Given the description of an element on the screen output the (x, y) to click on. 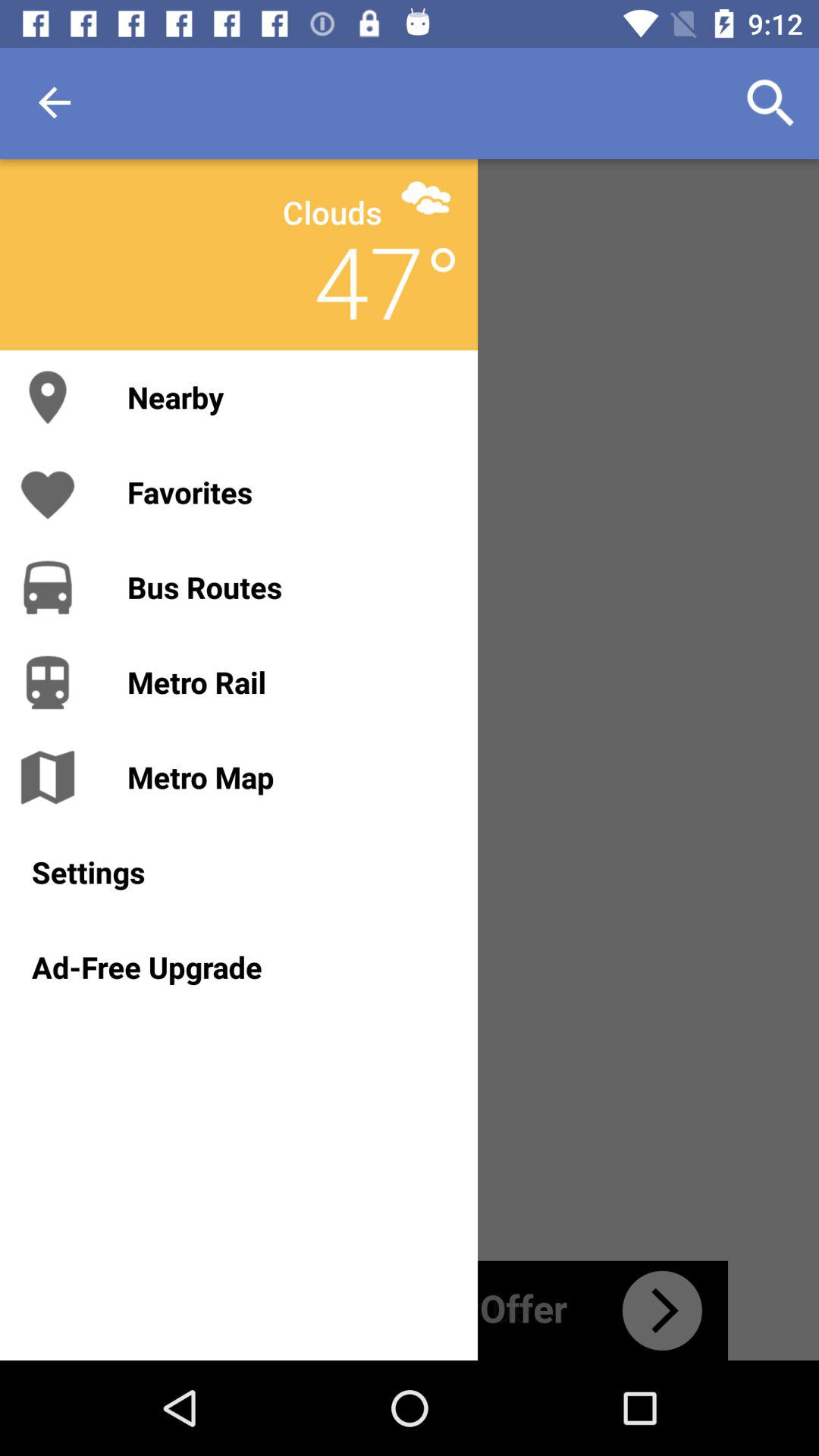
click icon at the top right corner (771, 103)
